Given the description of an element on the screen output the (x, y) to click on. 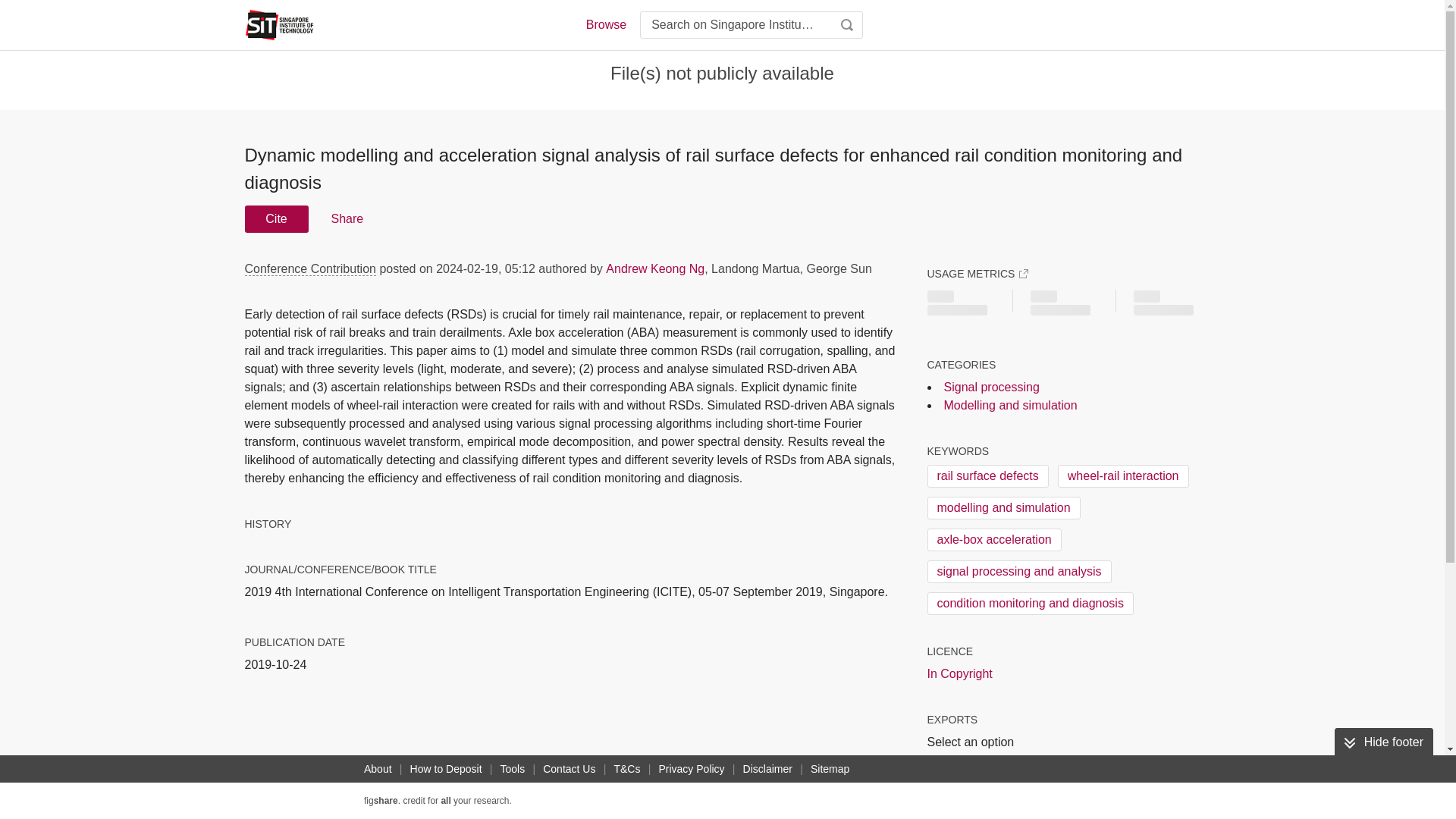
Disclaimer (767, 769)
condition monitoring and diagnosis (1029, 603)
Tools (512, 769)
rail surface defects (987, 476)
Share (346, 218)
Modelling and simulation (1010, 404)
axle-box acceleration (993, 539)
signal processing and analysis (1018, 571)
About (377, 769)
In Copyright (958, 674)
Andrew Keong Ng (654, 268)
Privacy Policy (691, 769)
Contact Us (568, 769)
Hide footer (1383, 742)
wheel-rail interaction (1123, 476)
